Given the description of an element on the screen output the (x, y) to click on. 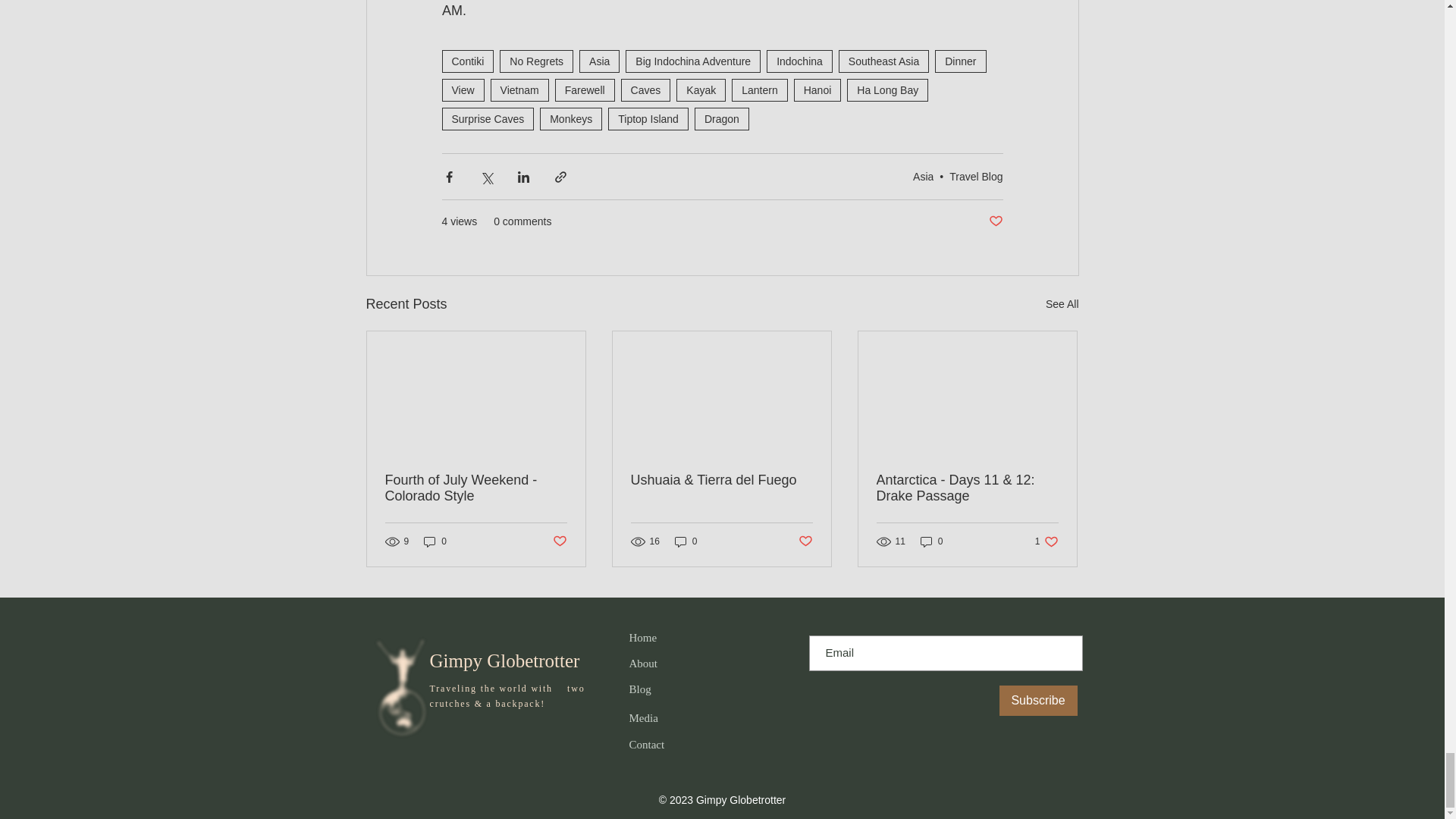
Lantern (759, 89)
Hanoi (817, 89)
Surprise Caves (487, 118)
Kayak (701, 89)
Vietnam (519, 89)
Southeast Asia (883, 60)
Ha Long Bay (887, 89)
Dinner (959, 60)
Monkeys (571, 118)
Contiki (467, 60)
